Given the description of an element on the screen output the (x, y) to click on. 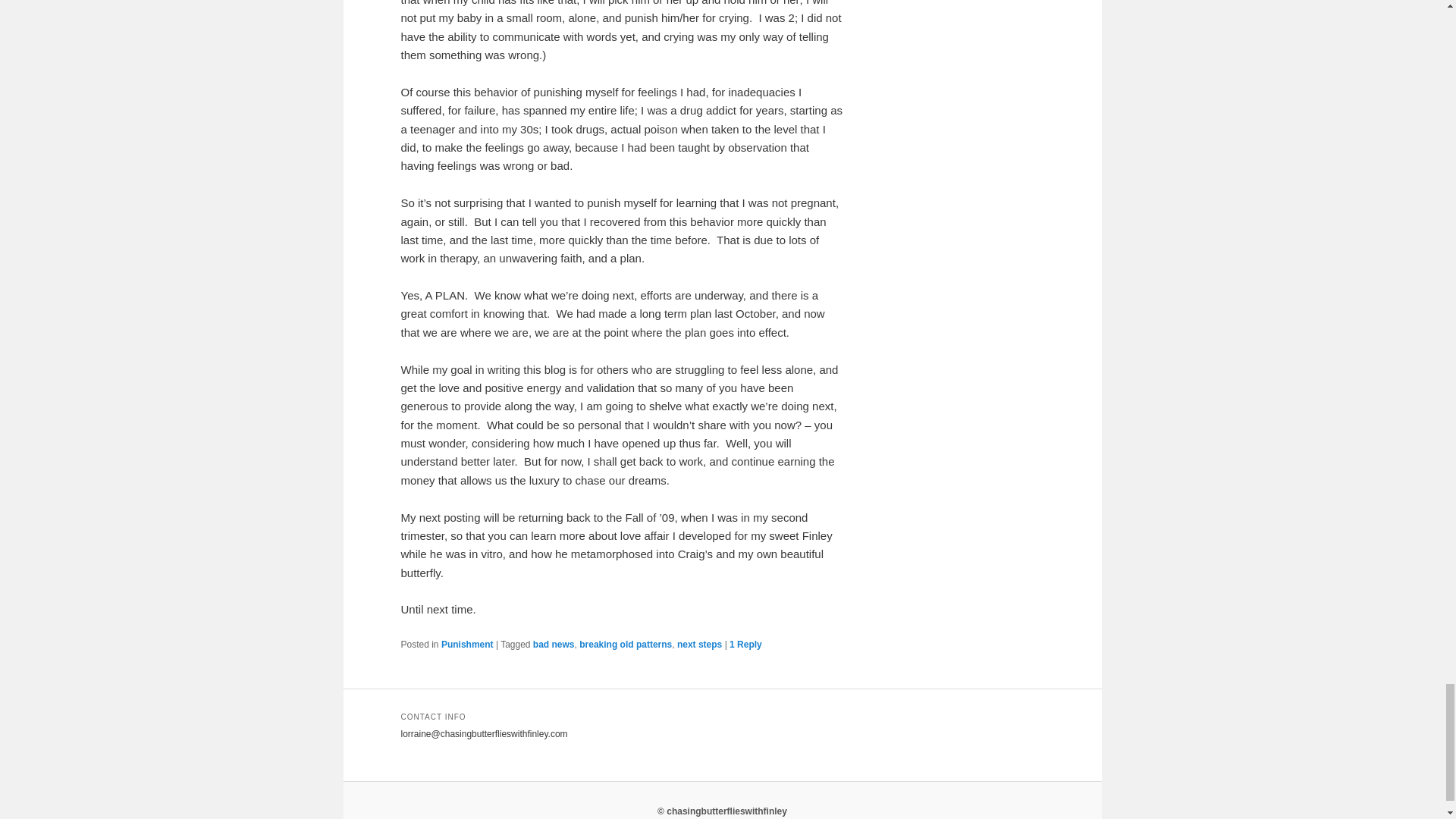
View all posts in Punishment (467, 644)
1 Reply (745, 644)
Comment on Punishing My Self (745, 644)
Punishment (467, 644)
breaking old patterns (625, 644)
bad news (553, 644)
next steps (699, 644)
